Given the description of an element on the screen output the (x, y) to click on. 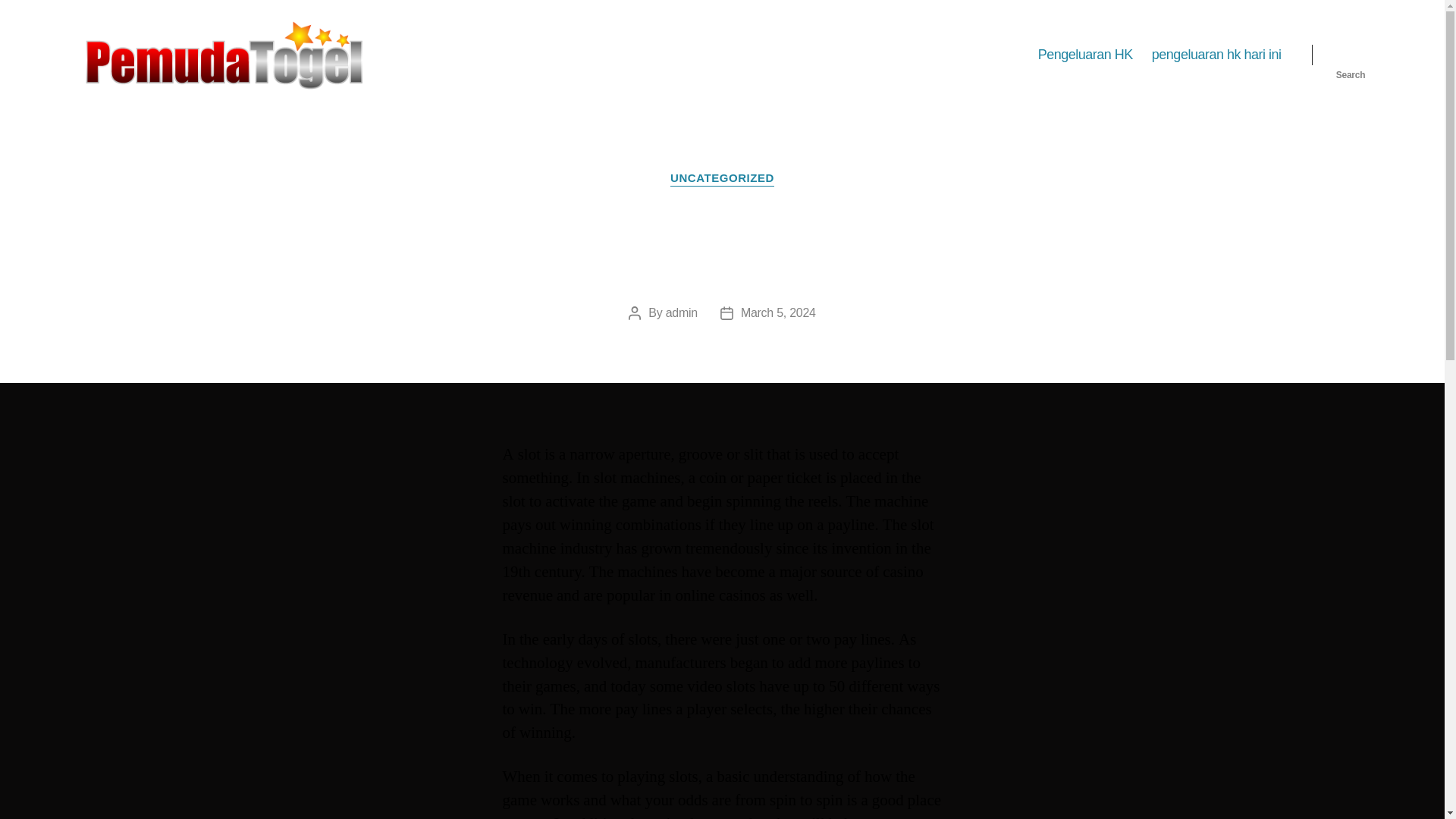
Search (1350, 55)
March 5, 2024 (778, 312)
Pengeluaran HK (1085, 54)
admin (681, 312)
UNCATEGORIZED (721, 178)
pengeluaran hk hari ini (1216, 54)
